Given the description of an element on the screen output the (x, y) to click on. 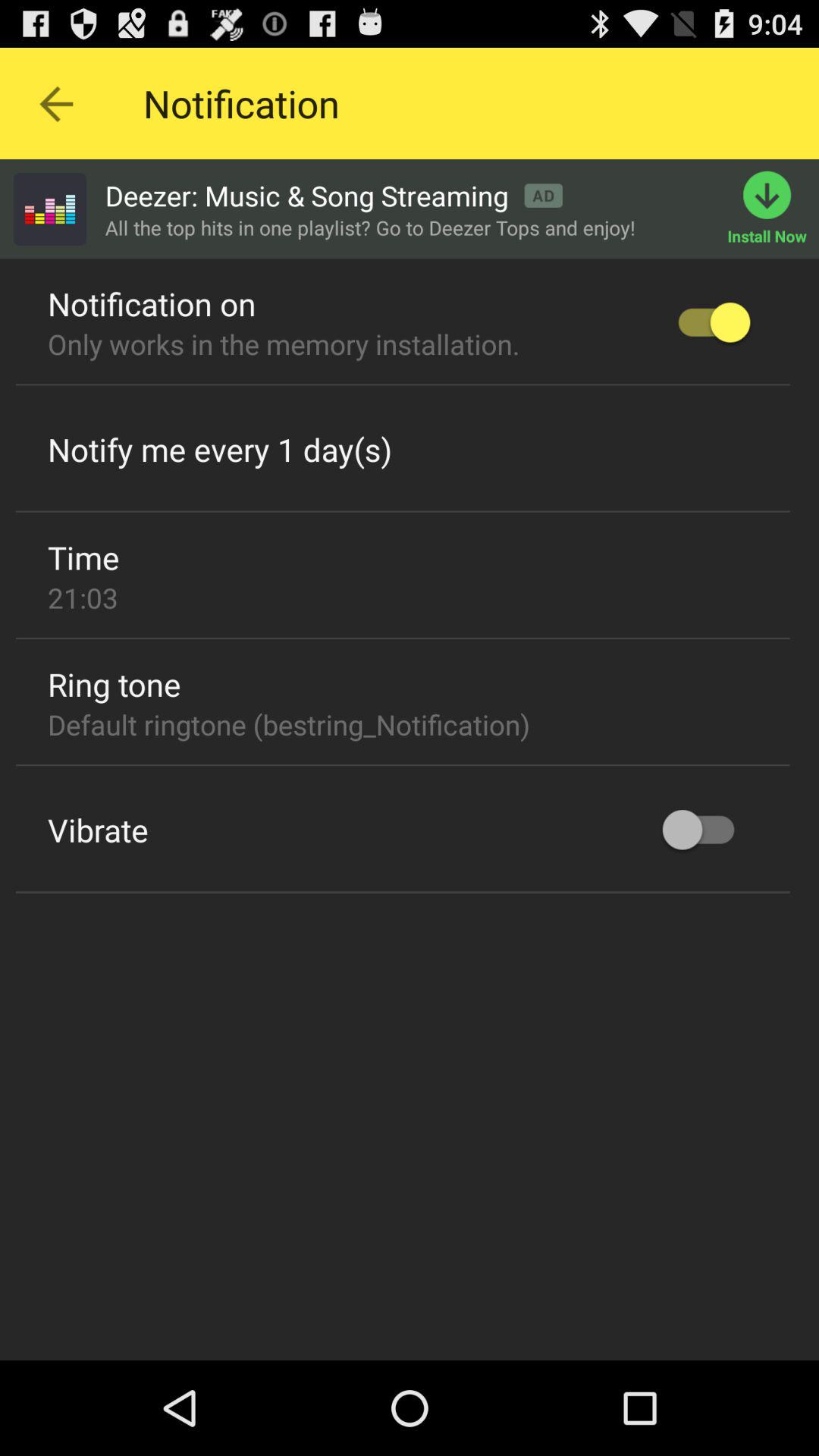
swipe to the install now (773, 208)
